Given the description of an element on the screen output the (x, y) to click on. 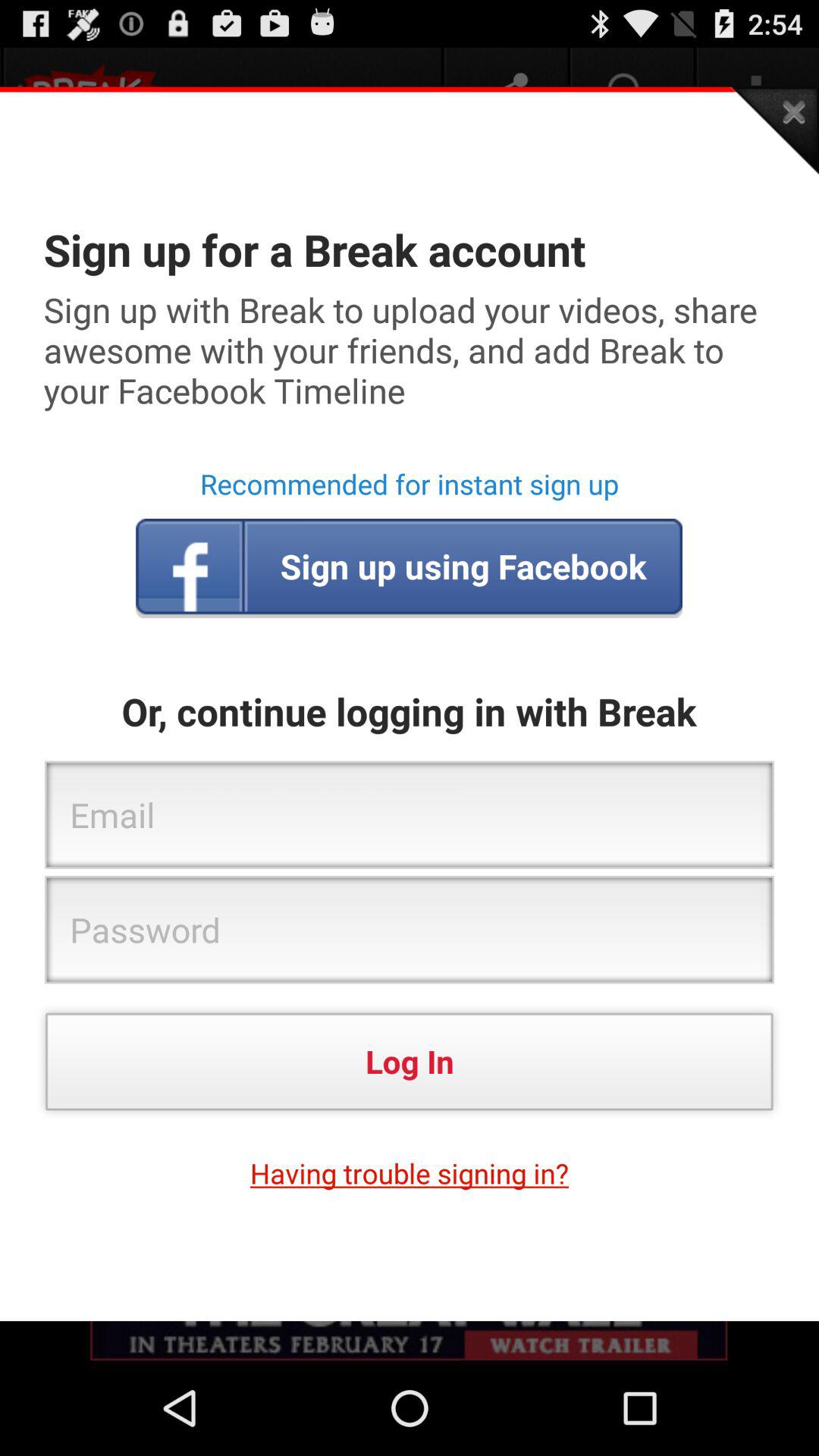
select the app above the having trouble signing item (409, 1061)
